Given the description of an element on the screen output the (x, y) to click on. 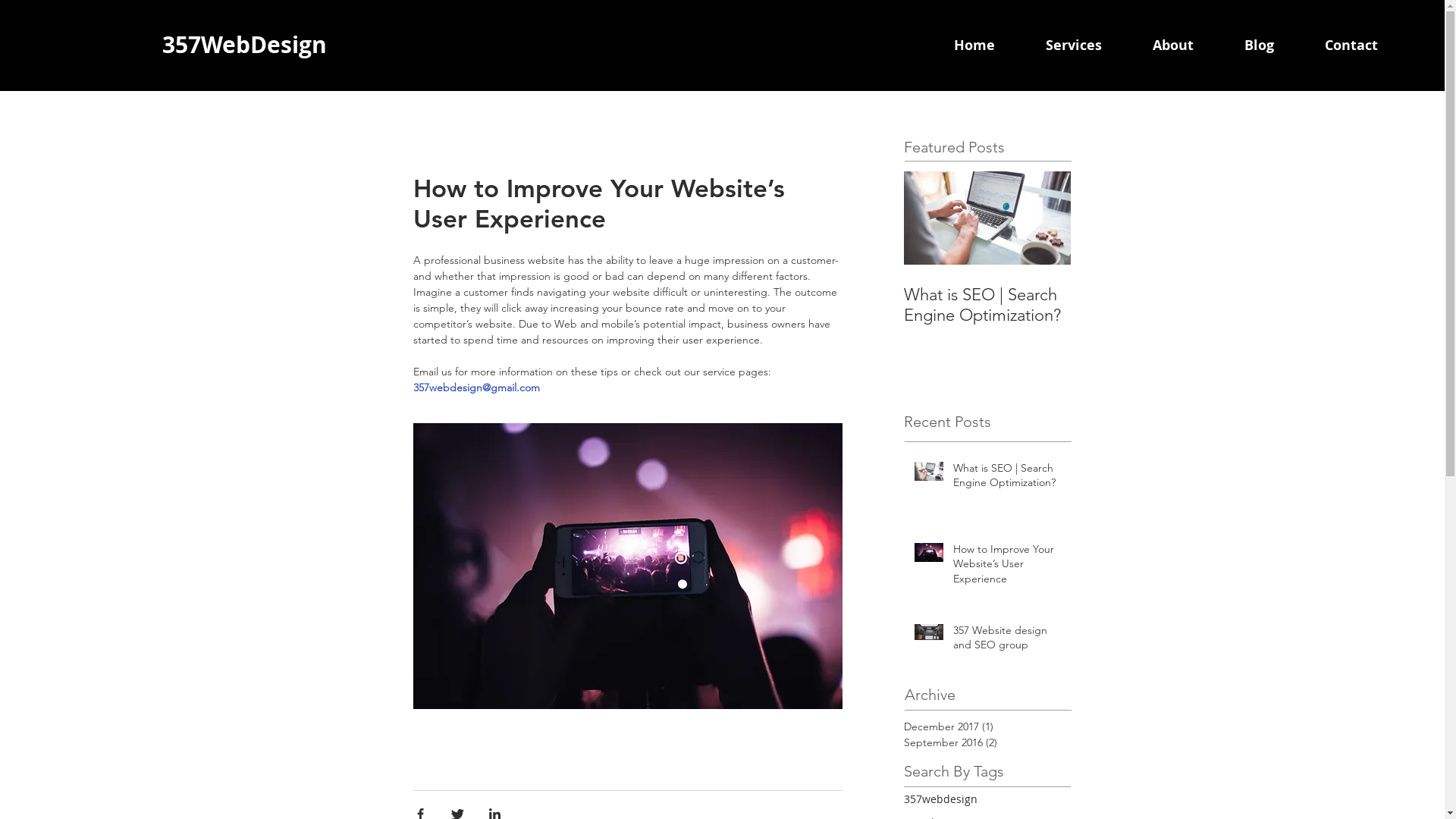
Home Element type: text (991, 45)
357 Element type: text (181, 43)
357webdesign Element type: text (940, 798)
WebDesign Element type: text (261, 43)
December 2017 (1) Element type: text (983, 726)
What is SEO | Search Engine Optimization? Element type: text (1006, 478)
Contact Element type: text (1368, 45)
What is SEO | Search Engine Optimization? Element type: text (986, 304)
357 Website design and SEO group Element type: text (1006, 640)
About Element type: text (1190, 45)
September 2016 (2) Element type: text (983, 742)
Blog Element type: text (1276, 45)
